Given the description of an element on the screen output the (x, y) to click on. 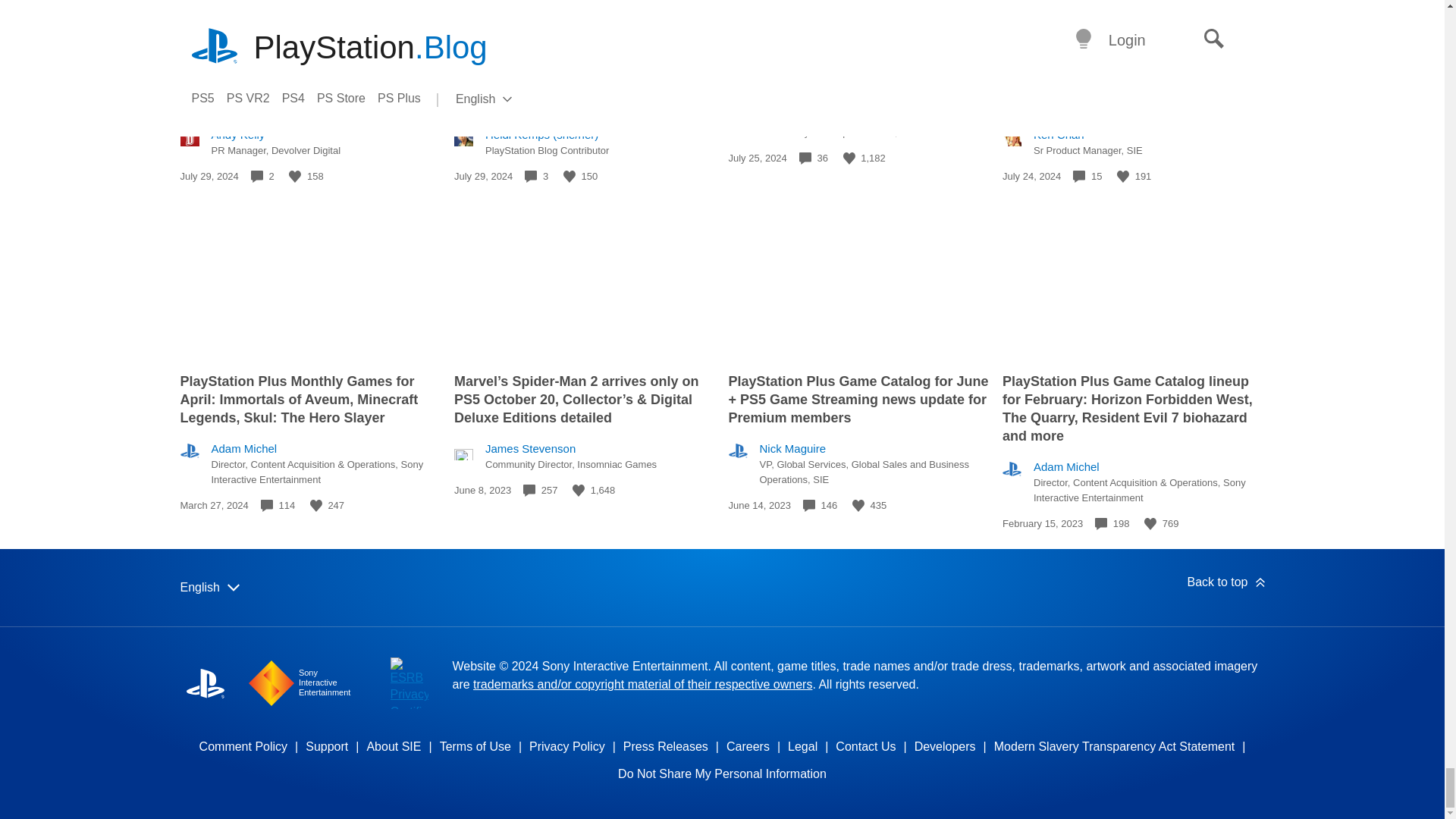
Like this (294, 176)
Like this (569, 176)
Like this (1122, 176)
Like this (849, 158)
